Given the description of an element on the screen output the (x, y) to click on. 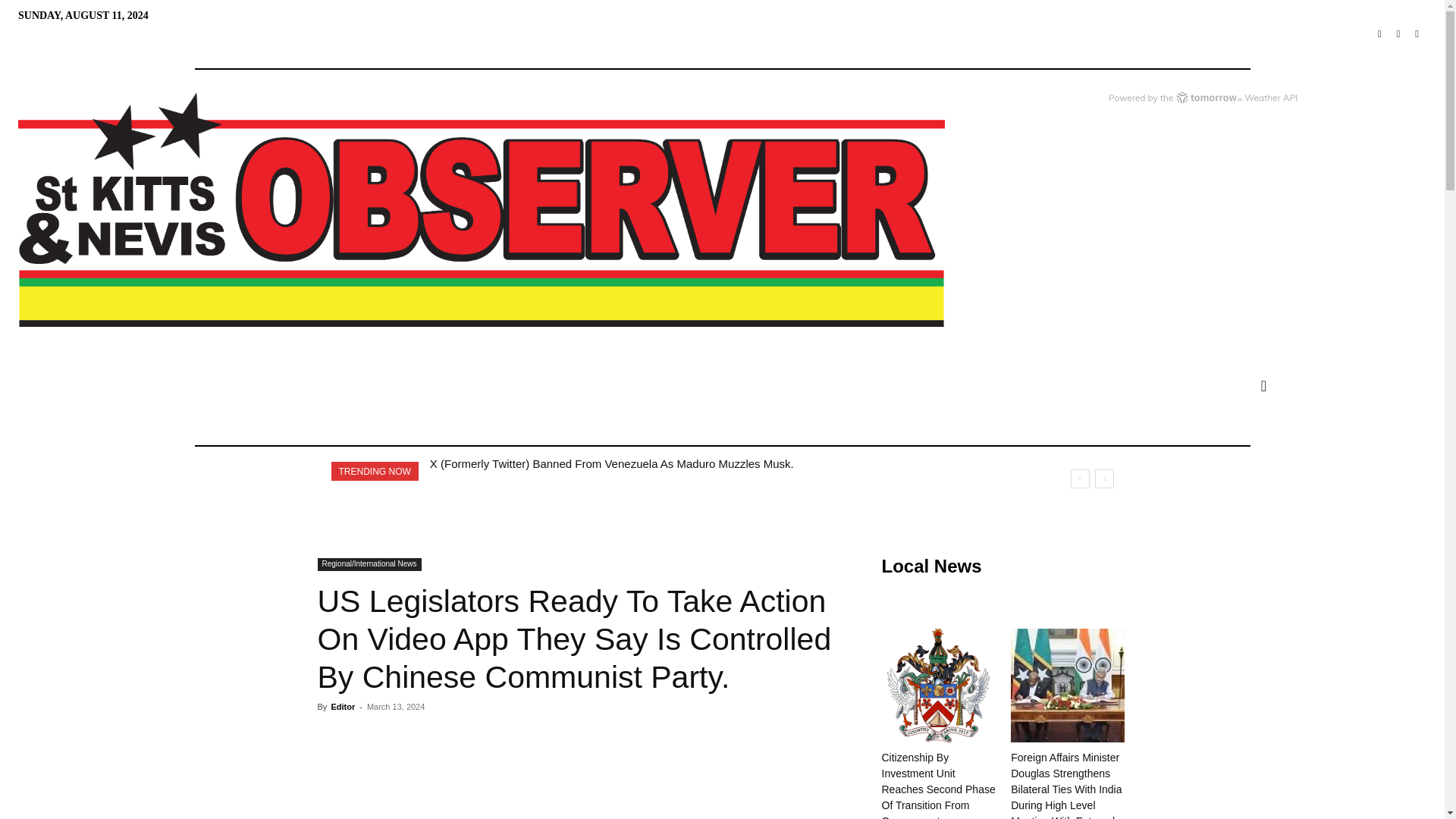
Twitter (1398, 34)
Youtube (1416, 34)
Facebook (1379, 34)
